Given the description of an element on the screen output the (x, y) to click on. 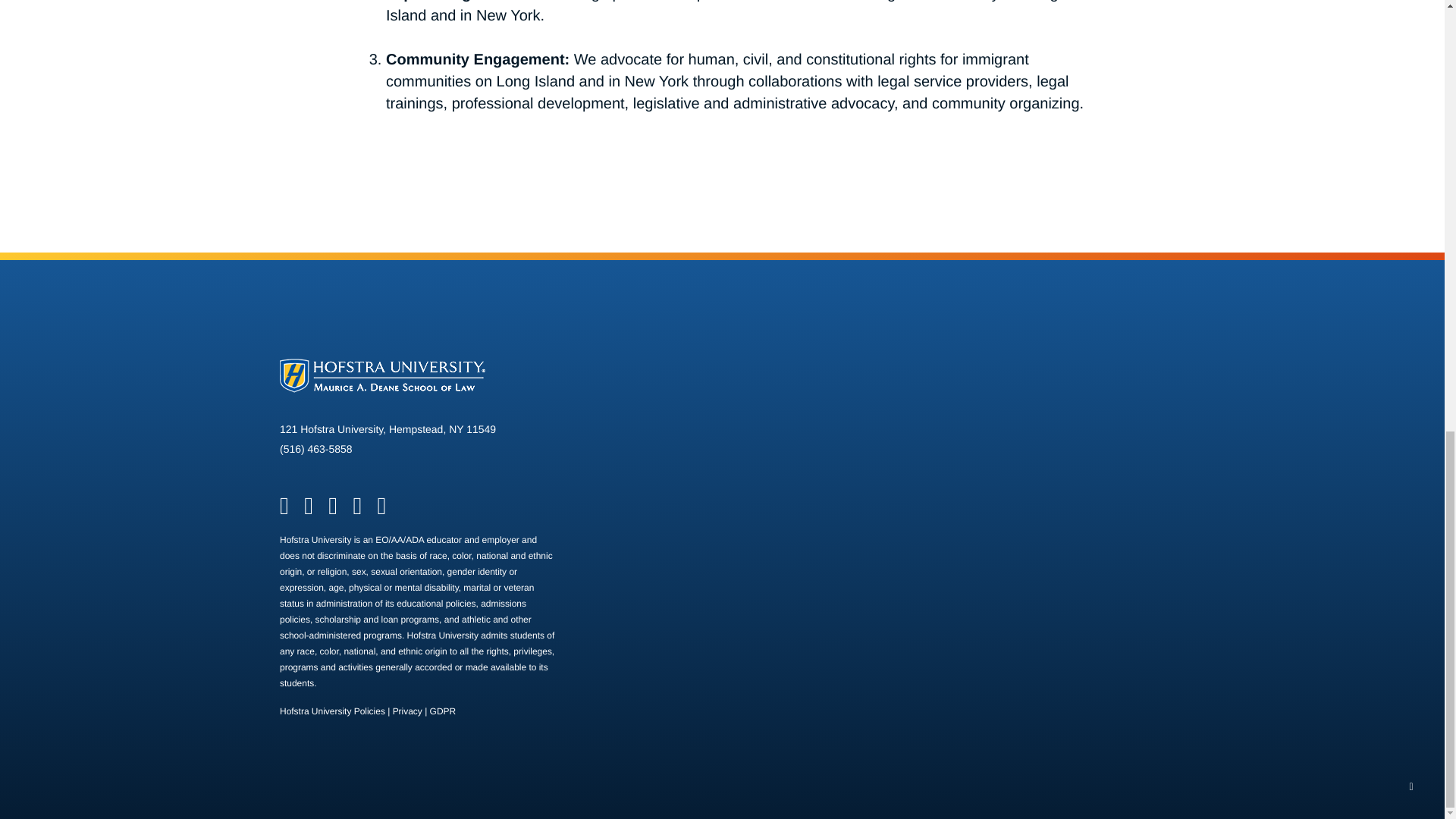
Privacy (407, 710)
GDPR (312, 510)
Hofstra University Policies (288, 510)
